Given the description of an element on the screen output the (x, y) to click on. 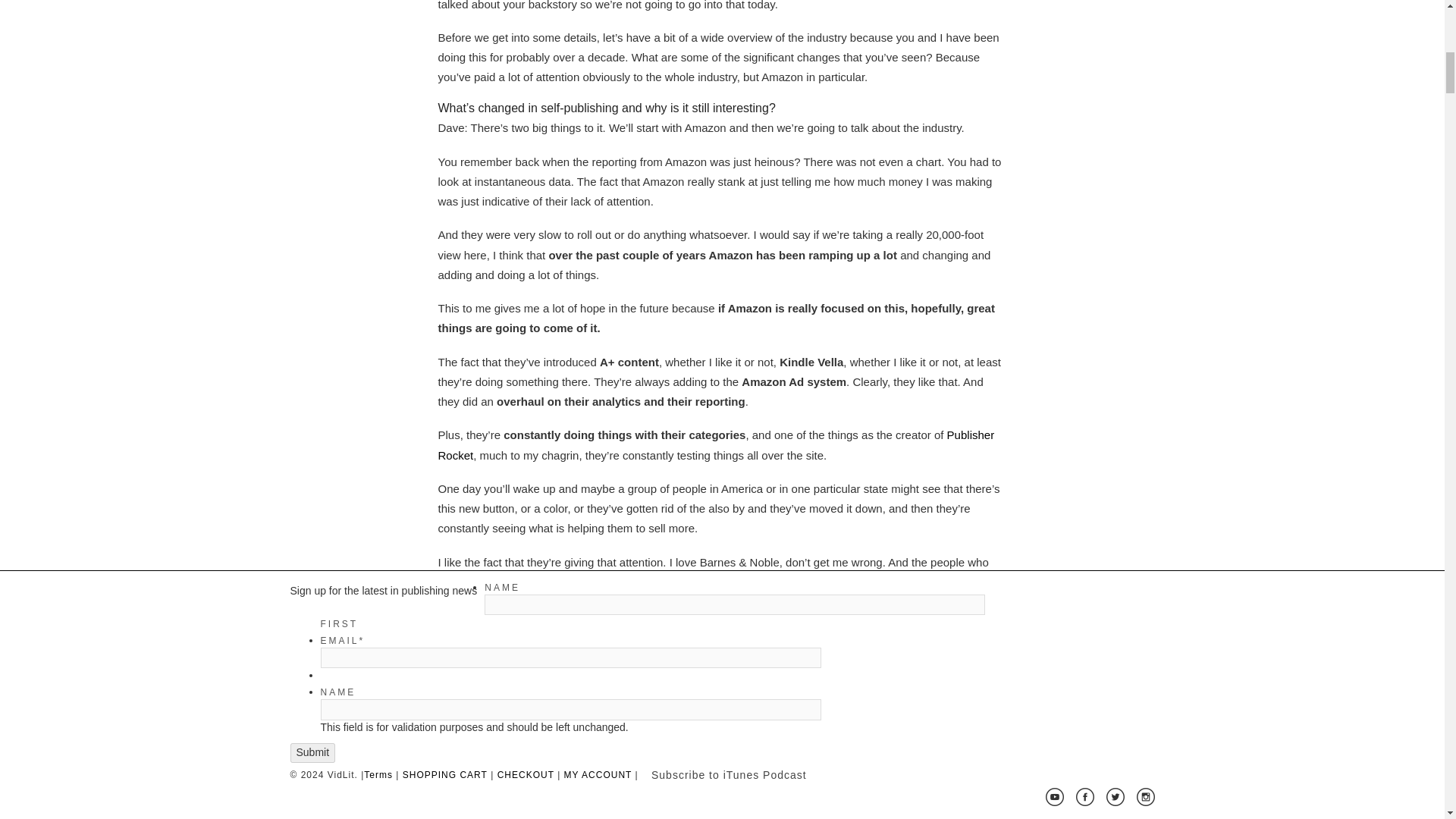
Publisher Rocket (716, 444)
